Given the description of an element on the screen output the (x, y) to click on. 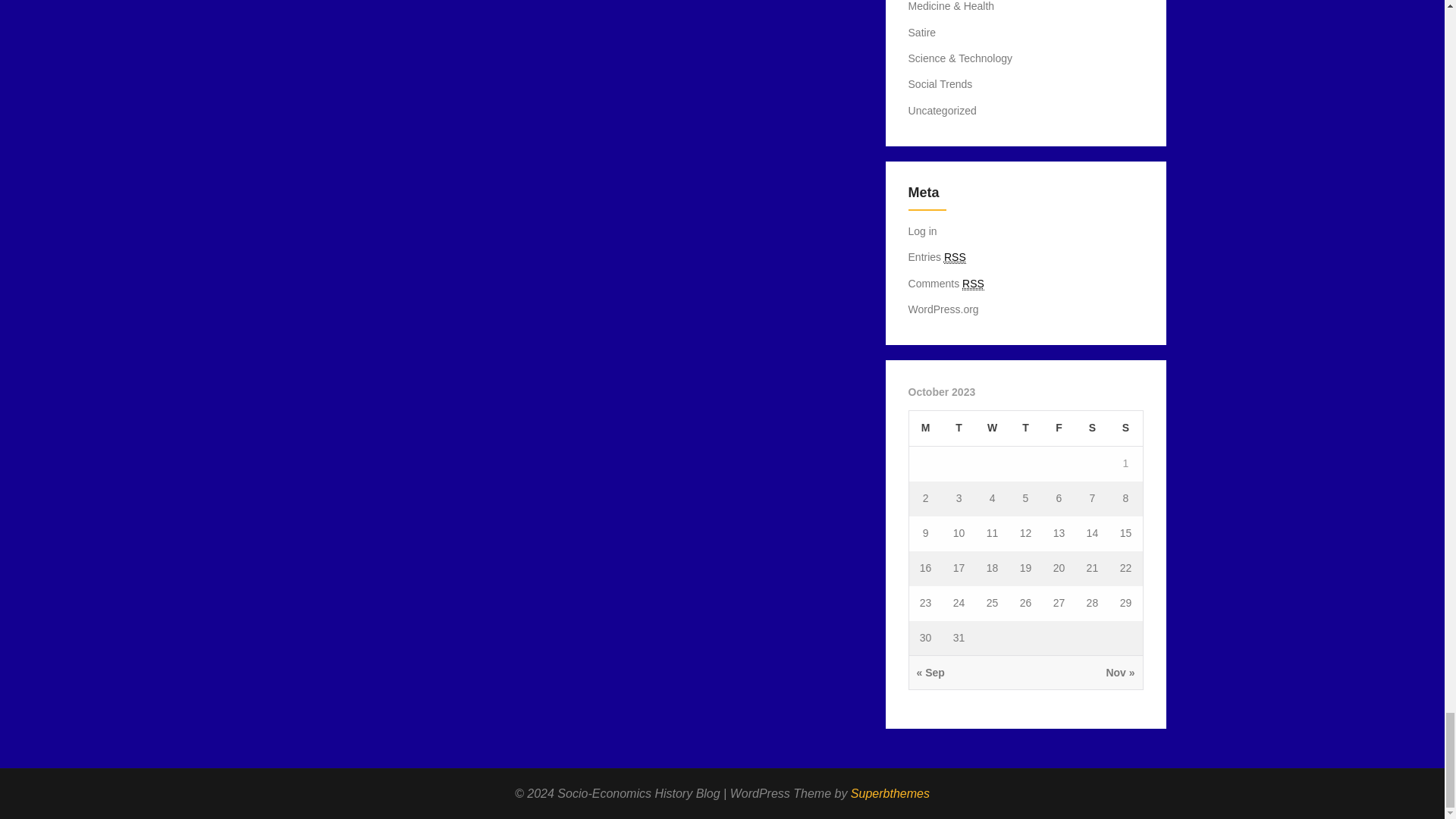
Monday (925, 428)
Really Simple Syndication (973, 283)
Saturday (1091, 428)
Sunday (1125, 428)
Thursday (1025, 428)
Really Simple Syndication (954, 256)
Wednesday (992, 428)
Friday (1058, 428)
Tuesday (958, 428)
